Given the description of an element on the screen output the (x, y) to click on. 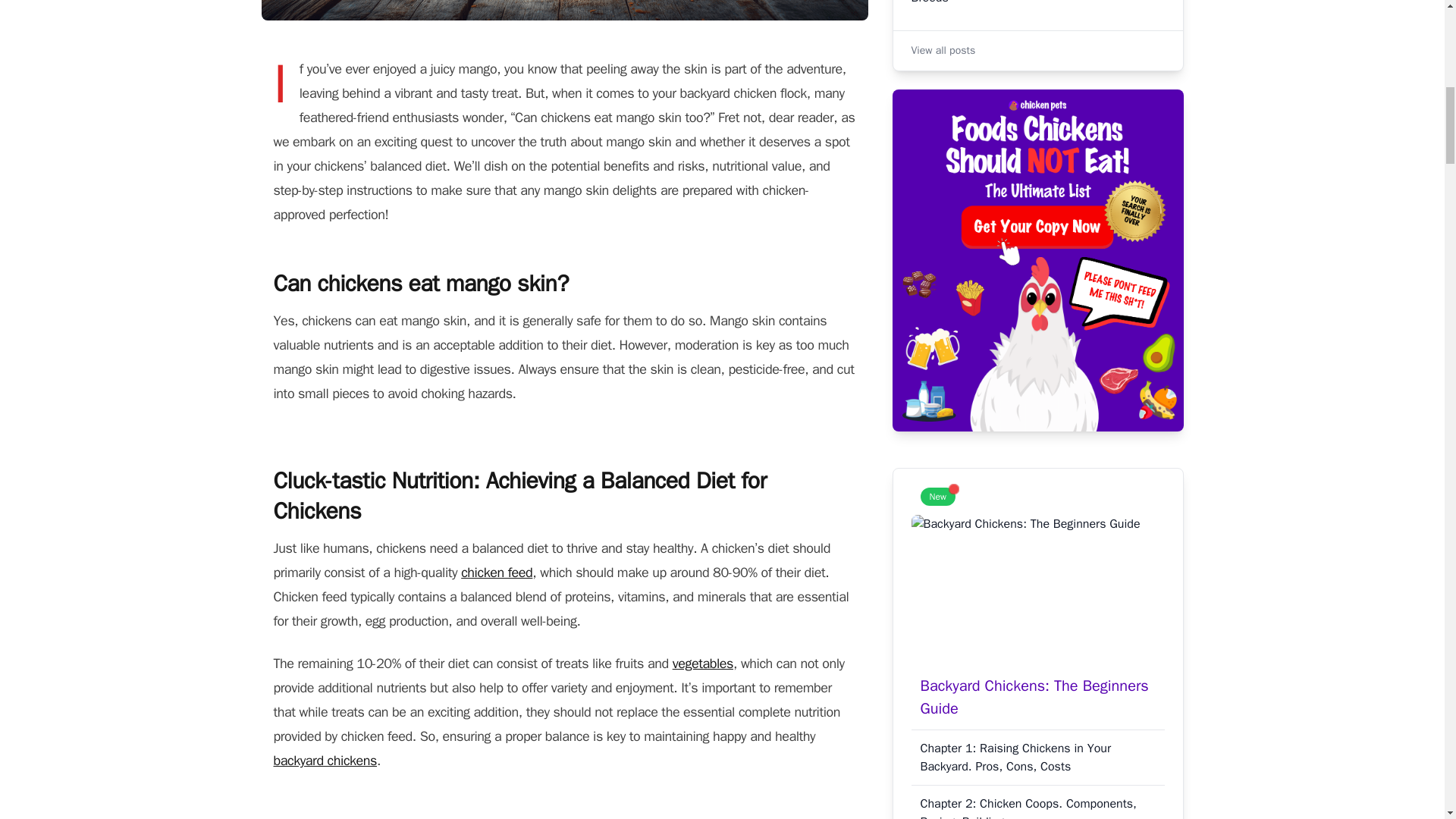
chicken feed (496, 572)
Low-feed-conversion Chicken Breeds (1037, 12)
vegetables (702, 663)
chicken feed (496, 572)
vegetables (702, 663)
backyard chickens (325, 760)
backyard chickens (325, 760)
